Given the description of an element on the screen output the (x, y) to click on. 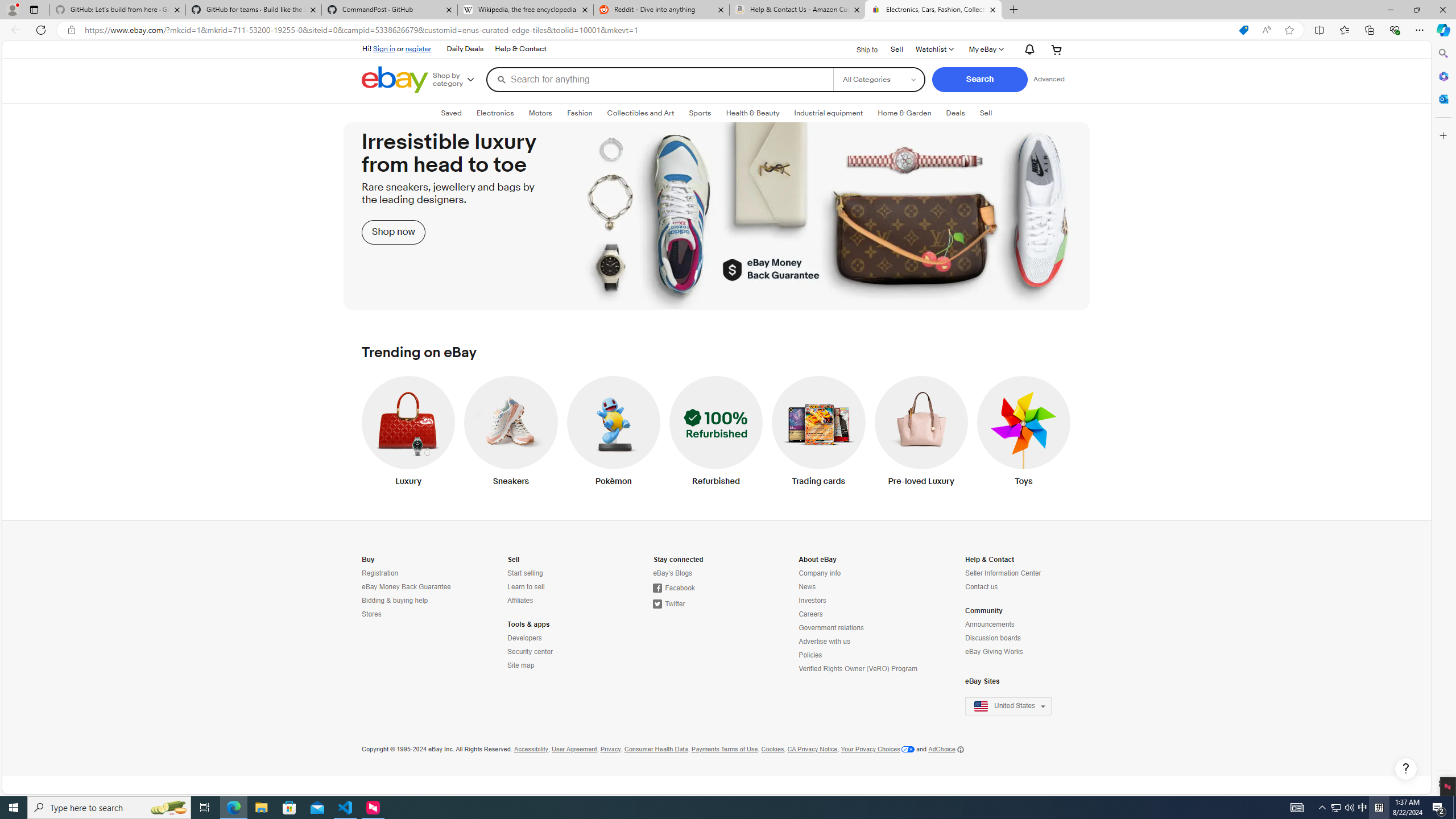
Wikipedia, the free encyclopedia (525, 9)
Search for anything (659, 78)
Stores (412, 614)
Verified Rights Owner (VeRO) Program (858, 669)
eBay Money Back Guarantee (406, 587)
Government relations (830, 628)
SportsExpand: Sports (700, 112)
Help & Contact Us - Amazon Customer Service - Sleeping (797, 9)
Security center (529, 652)
Site map (520, 665)
